Given the description of an element on the screen output the (x, y) to click on. 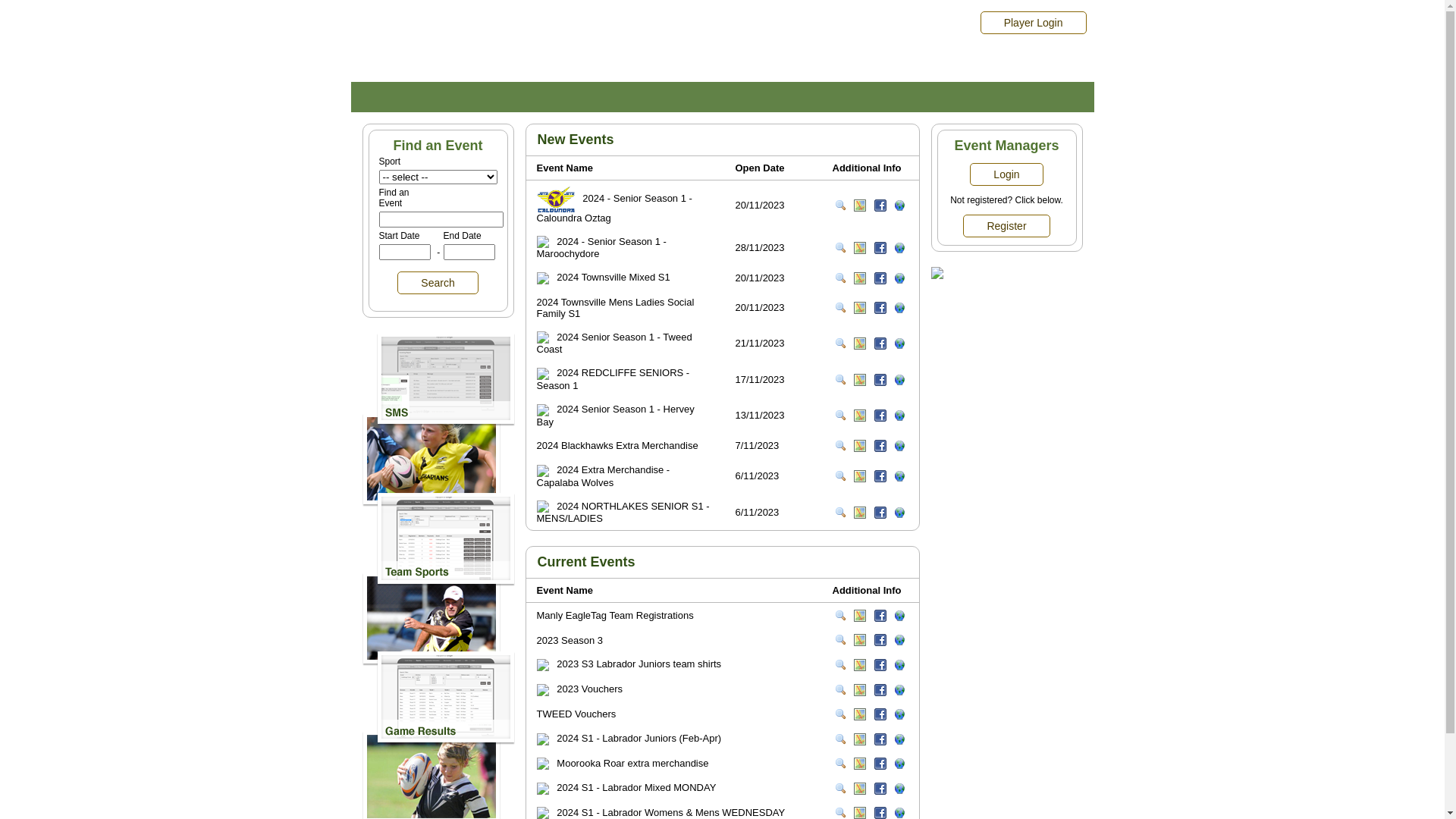
View Event Information Element type: hover (840, 714)
View Event Information Element type: hover (840, 445)
Follow on facebook Element type: hover (880, 690)
Sign Up Element type: hover (899, 788)
View Event Information Element type: hover (840, 788)
View on Map Element type: hover (859, 343)
View on Map Element type: hover (859, 739)
Sign Up Element type: hover (899, 739)
Sign Up Element type: hover (899, 689)
Follow on facebook Element type: hover (880, 664)
View on Map Element type: hover (859, 664)
View Event Information Element type: hover (840, 812)
Follow on facebook Element type: hover (880, 379)
Sign Up Element type: hover (899, 615)
Sign Up Element type: hover (899, 307)
Follow on facebook Element type: hover (880, 205)
View Event Information Element type: hover (840, 247)
Sign Up Element type: hover (899, 445)
Sign Up Element type: hover (899, 639)
View on Map Element type: hover (859, 307)
Search Element type: text (437, 282)
View Event Information Element type: hover (840, 763)
View on Map Element type: hover (859, 379)
Sign Up Element type: hover (899, 278)
View on Map Element type: hover (859, 476)
Sign Up Element type: hover (899, 812)
View on Map Element type: hover (859, 415)
Follow on facebook Element type: hover (880, 278)
Register Element type: text (1006, 225)
View Event Information Element type: hover (840, 512)
Follow on facebook Element type: hover (880, 476)
View Event Information Element type: hover (840, 689)
Follow on facebook Element type: hover (880, 763)
Player Login Element type: text (1033, 22)
View on Map Element type: hover (859, 512)
Follow on facebook Element type: hover (880, 714)
Sign Up Element type: hover (899, 763)
Follow on facebook Element type: hover (880, 615)
View Event Information Element type: hover (840, 278)
Sign Up Element type: hover (899, 205)
View Event Information Element type: hover (840, 475)
Sign Up Element type: hover (899, 714)
View Event Information Element type: hover (840, 379)
View on Map Element type: hover (859, 690)
View on Map Element type: hover (859, 615)
Follow on facebook Element type: hover (880, 343)
Follow on facebook Element type: hover (880, 512)
View Event Information Element type: hover (840, 343)
View Event Information Element type: hover (840, 415)
Follow on facebook Element type: hover (880, 415)
View on Map Element type: hover (859, 763)
Sign Up Element type: hover (899, 415)
View on Map Element type: hover (859, 278)
View Event Information Element type: hover (840, 639)
Sign Up Element type: hover (899, 512)
View on Map Element type: hover (859, 247)
Follow on facebook Element type: hover (880, 639)
View on Map Element type: hover (859, 205)
View Event Information Element type: hover (840, 664)
Follow on facebook Element type: hover (880, 247)
View on Map Element type: hover (859, 639)
View Event Information Element type: hover (840, 307)
Sign Up Element type: hover (899, 379)
Sign Up Element type: hover (899, 343)
Sign Up Element type: hover (899, 475)
View on Map Element type: hover (859, 445)
View on Map Element type: hover (859, 714)
View on Map Element type: hover (859, 788)
View Event Information Element type: hover (840, 615)
View Event Information Element type: hover (840, 739)
Follow on facebook Element type: hover (880, 307)
Sign Up Element type: hover (899, 664)
Follow on facebook Element type: hover (880, 739)
Follow on facebook Element type: hover (880, 788)
View Event Information Element type: hover (840, 205)
Follow on facebook Element type: hover (880, 445)
Sign Up Element type: hover (899, 247)
Login Element type: text (1005, 174)
